Given the description of an element on the screen output the (x, y) to click on. 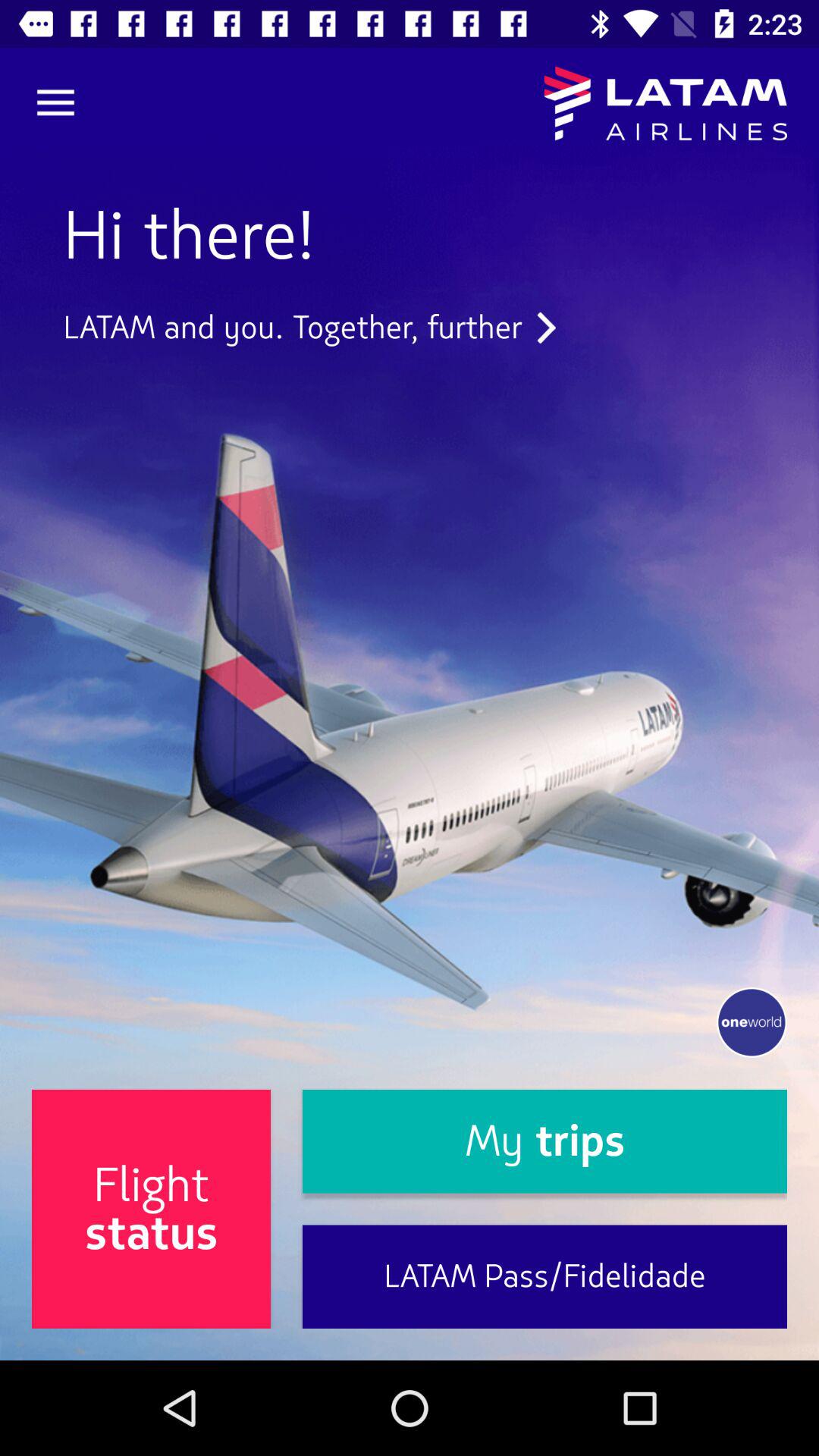
click item above hi there! icon (55, 103)
